Given the description of an element on the screen output the (x, y) to click on. 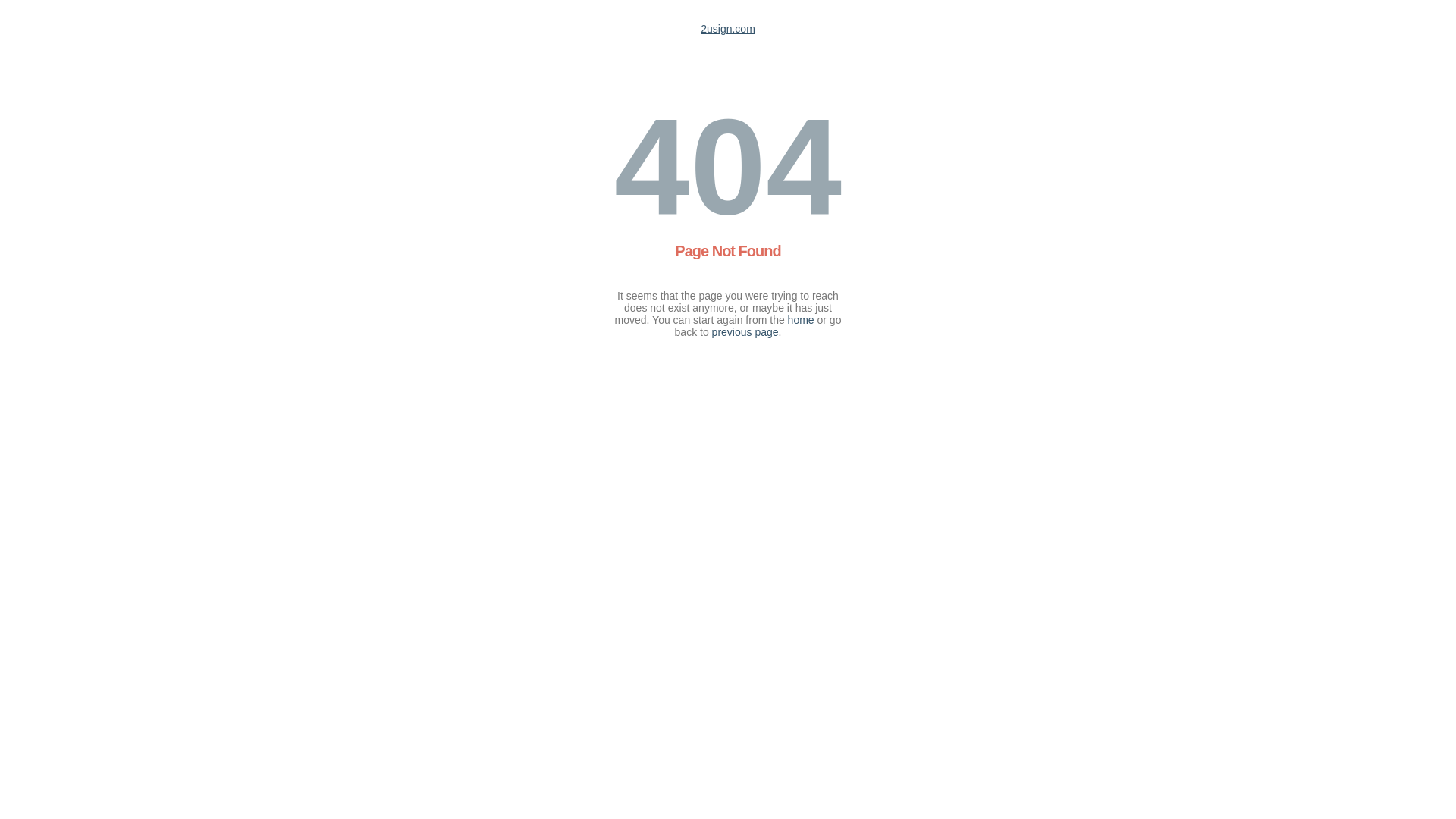
previous page Element type: text (745, 332)
home Element type: text (800, 319)
2usign.com Element type: text (727, 28)
